Given the description of an element on the screen output the (x, y) to click on. 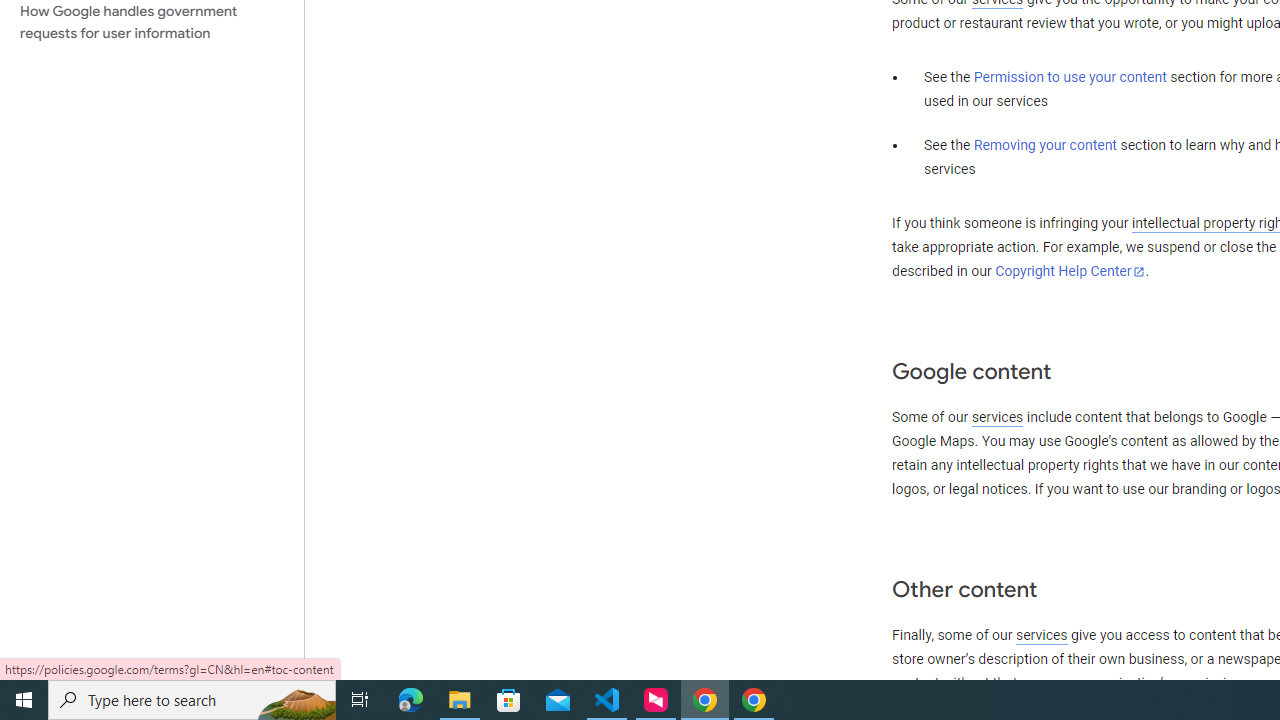
Copyright Help Center (1069, 271)
services (1041, 635)
Permission to use your content (1069, 78)
Removing your content (1044, 145)
